Given the description of an element on the screen output the (x, y) to click on. 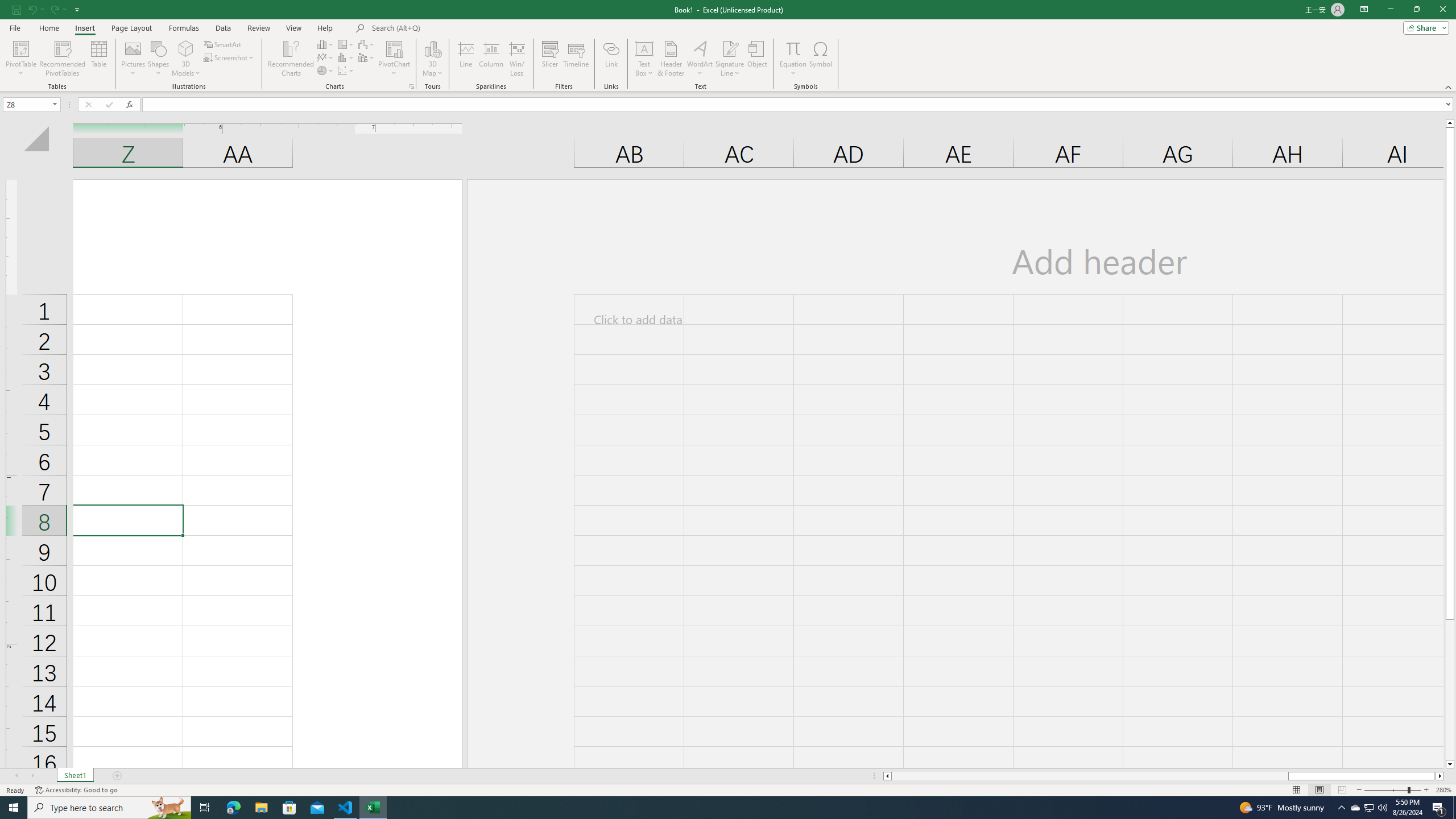
Equation (793, 48)
Recommended PivotTables (62, 58)
Link (611, 58)
Page left (1089, 775)
